Given the description of an element on the screen output the (x, y) to click on. 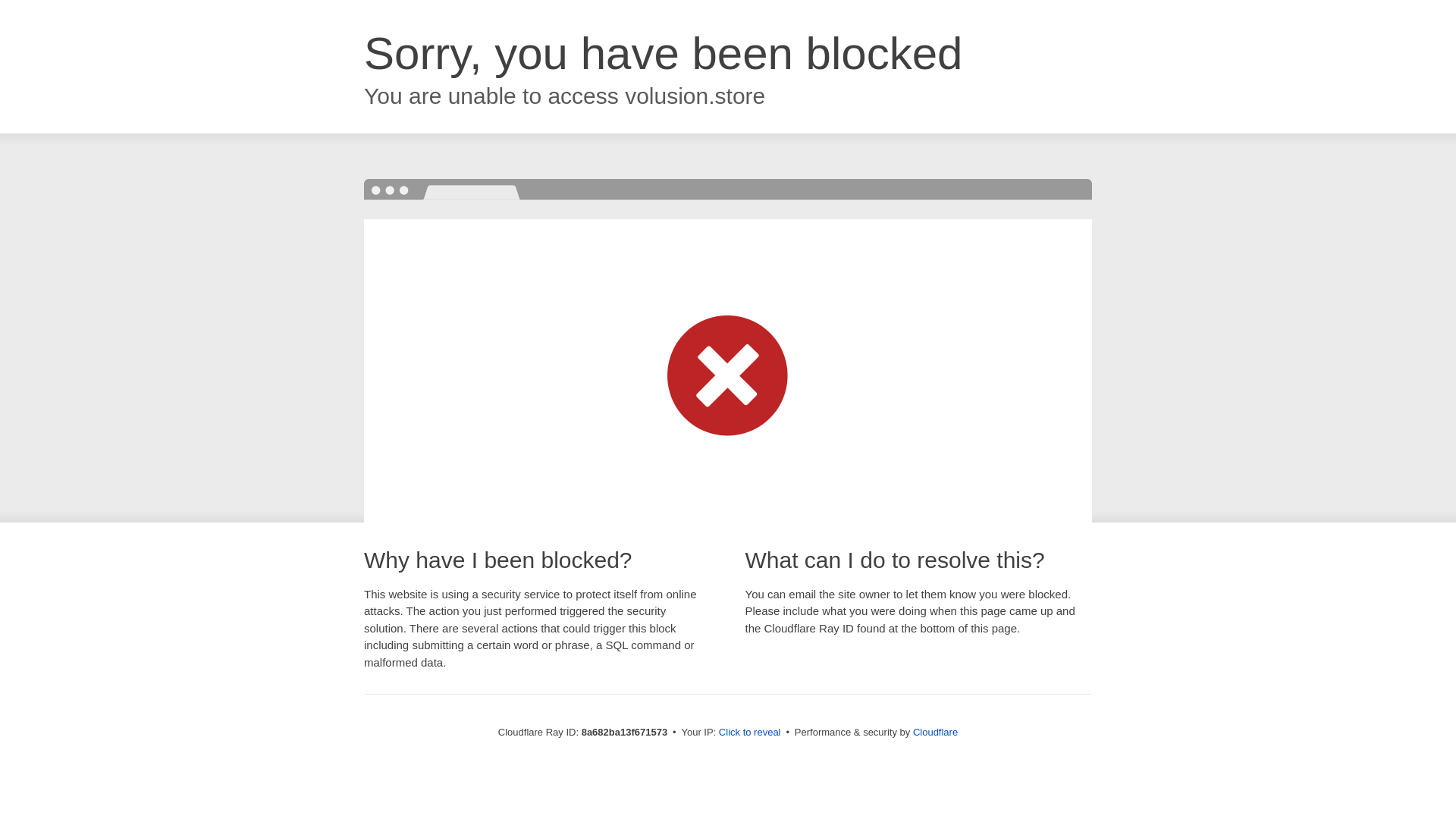
Click to reveal (749, 732)
Cloudflare (935, 731)
